Given the description of an element on the screen output the (x, y) to click on. 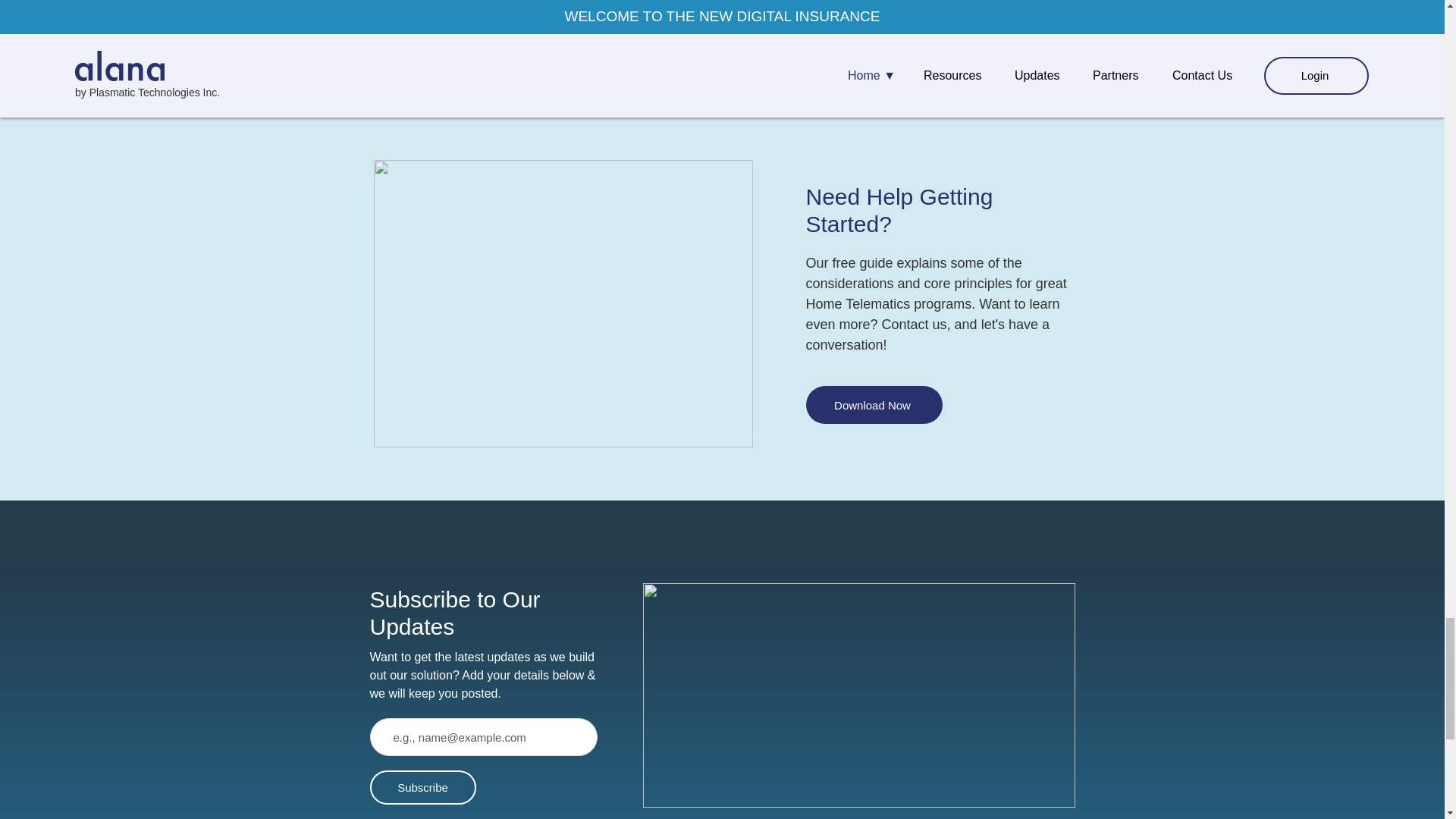
Download Now (873, 404)
Subscribe (422, 787)
